Given the description of an element on the screen output the (x, y) to click on. 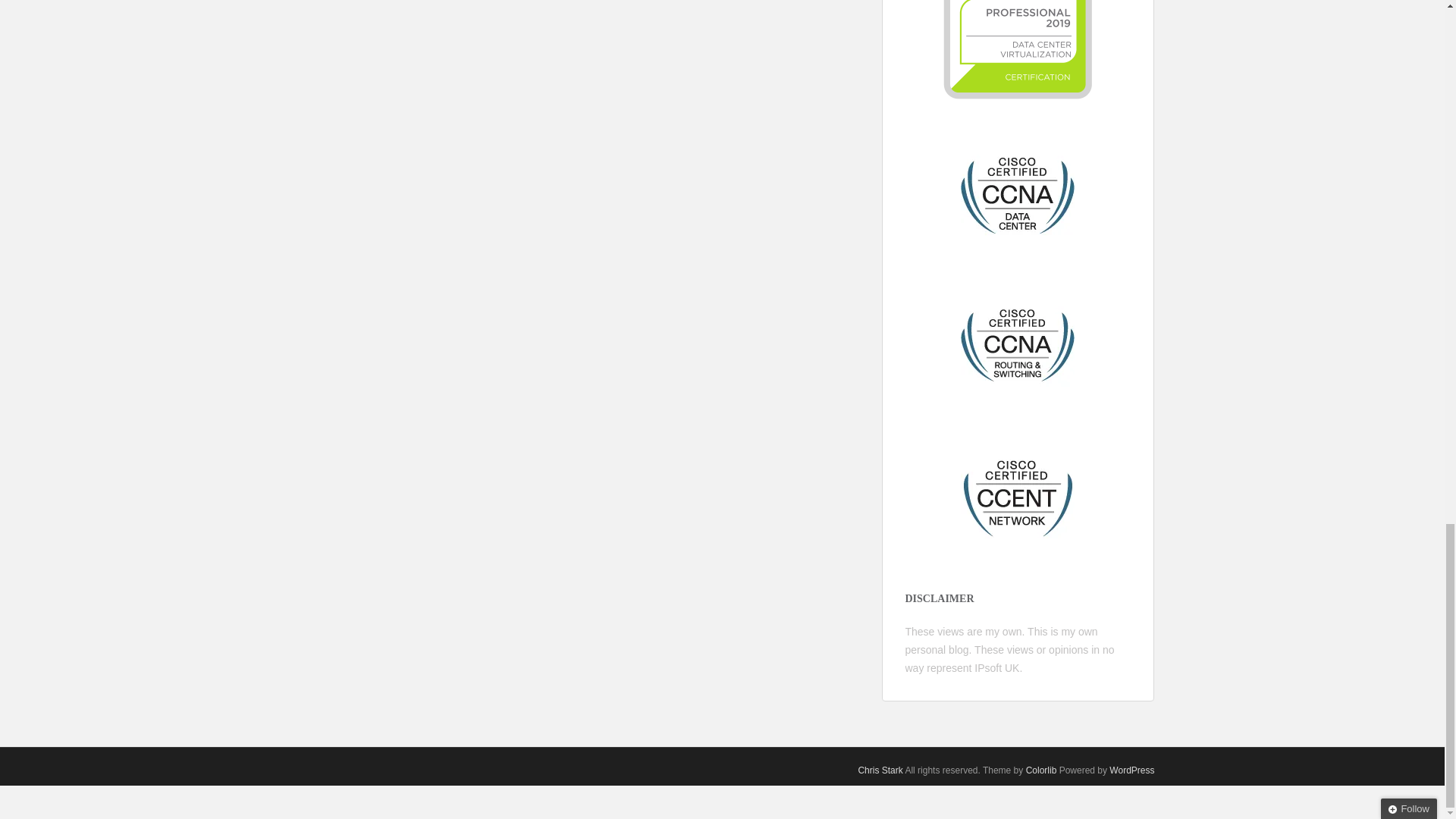
Chris Stark (879, 769)
